Given the description of an element on the screen output the (x, y) to click on. 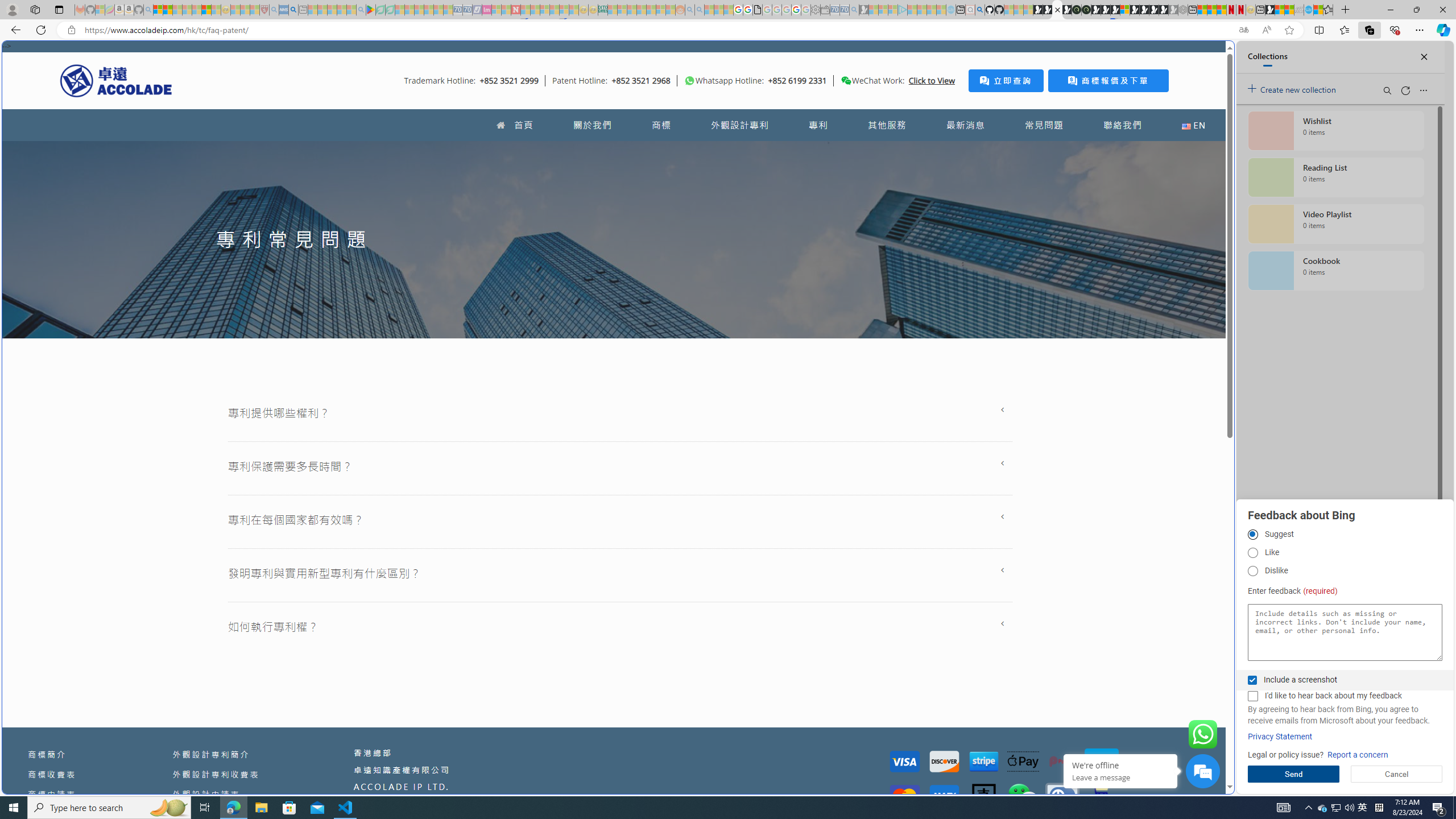
Expert Portfolios - Sleeping (640, 9)
Accolade IP HK Logo (116, 80)
Kinda Frugal - MSN - Sleeping (651, 9)
Future Focus Report 2024 (1085, 9)
Send (1293, 773)
